Given the description of an element on the screen output the (x, y) to click on. 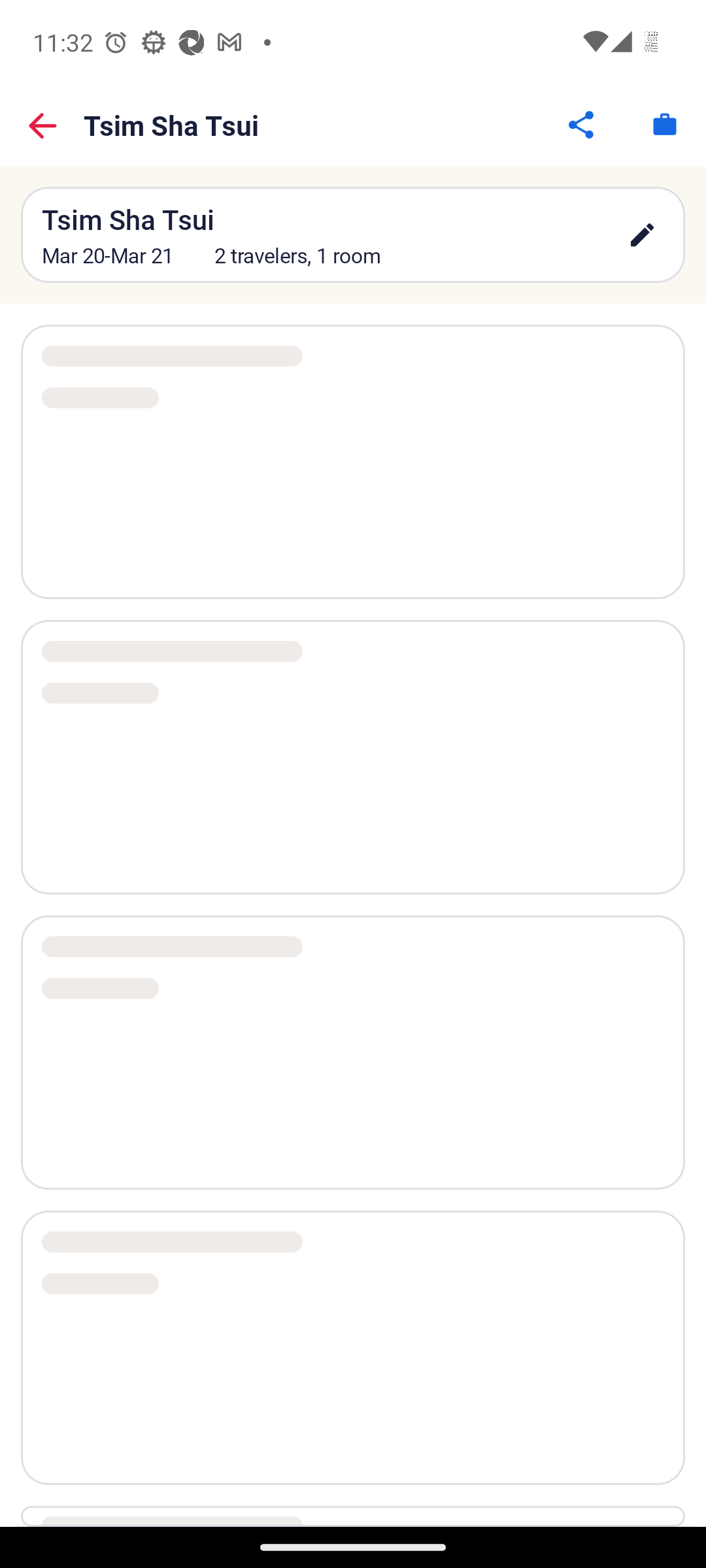
Share Button (582, 124)
Trips. Button (664, 124)
